Given the description of an element on the screen output the (x, y) to click on. 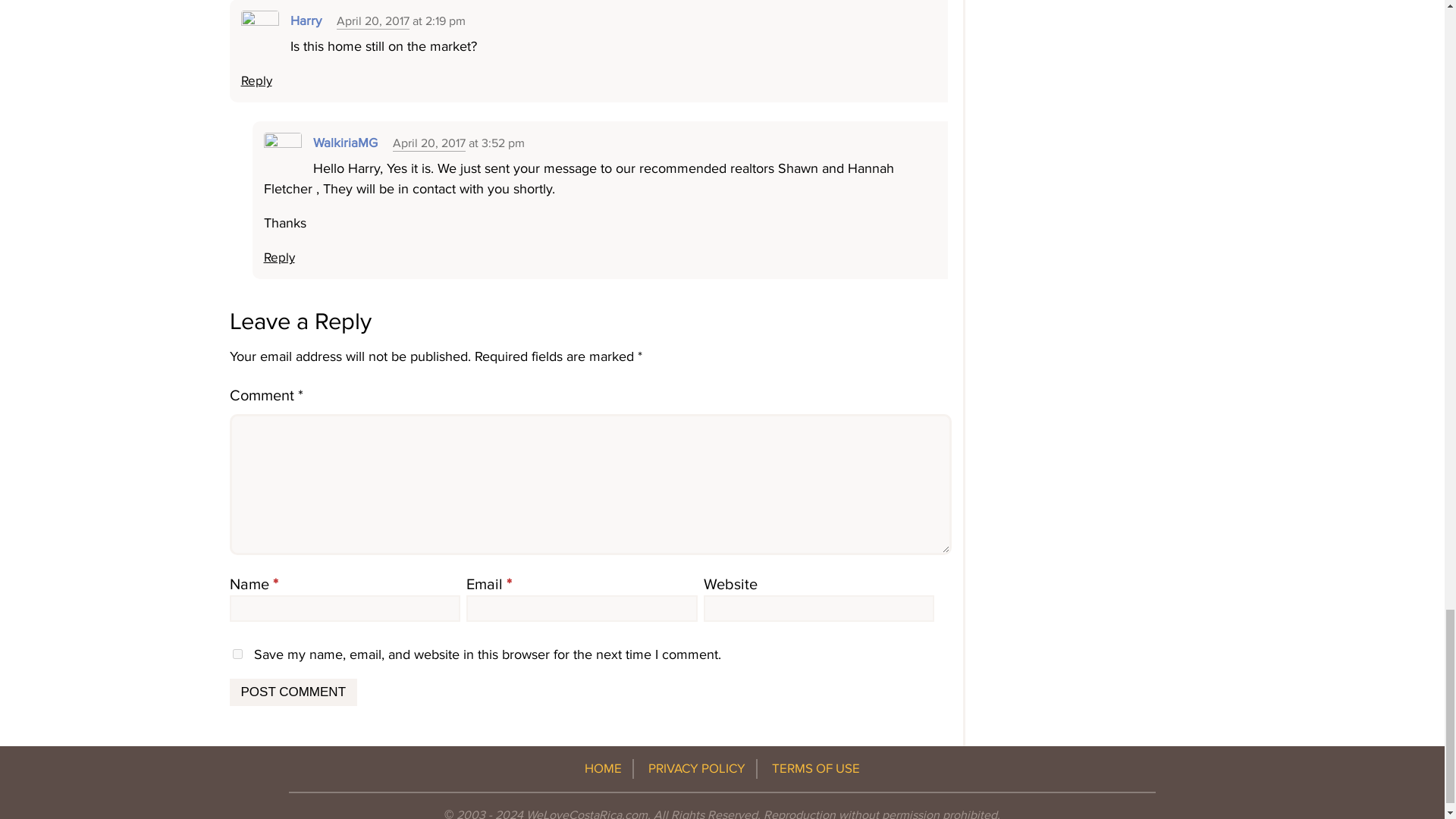
Post Comment (292, 691)
yes (236, 654)
